Given the description of an element on the screen output the (x, y) to click on. 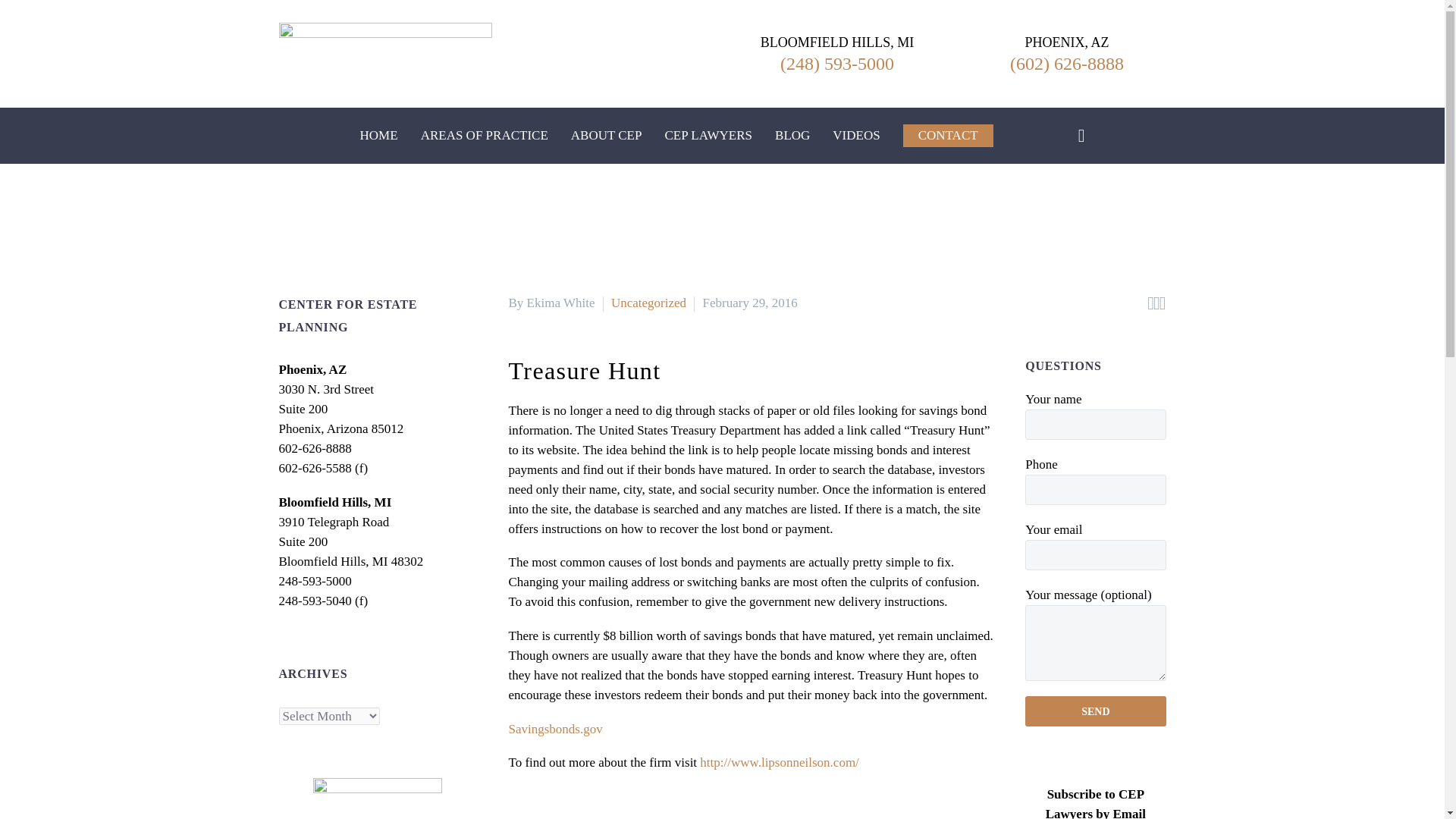
AREAS OF PRACTICE (484, 135)
CEP-Logo (385, 53)
HOME (378, 135)
View all posts in Uncategorized (648, 302)
CONTACT (948, 135)
ABOUT CEP (606, 135)
CEP LAWYERS (707, 135)
SEND (1095, 711)
VIDEOS (855, 135)
BLOG (791, 135)
